Given the description of an element on the screen output the (x, y) to click on. 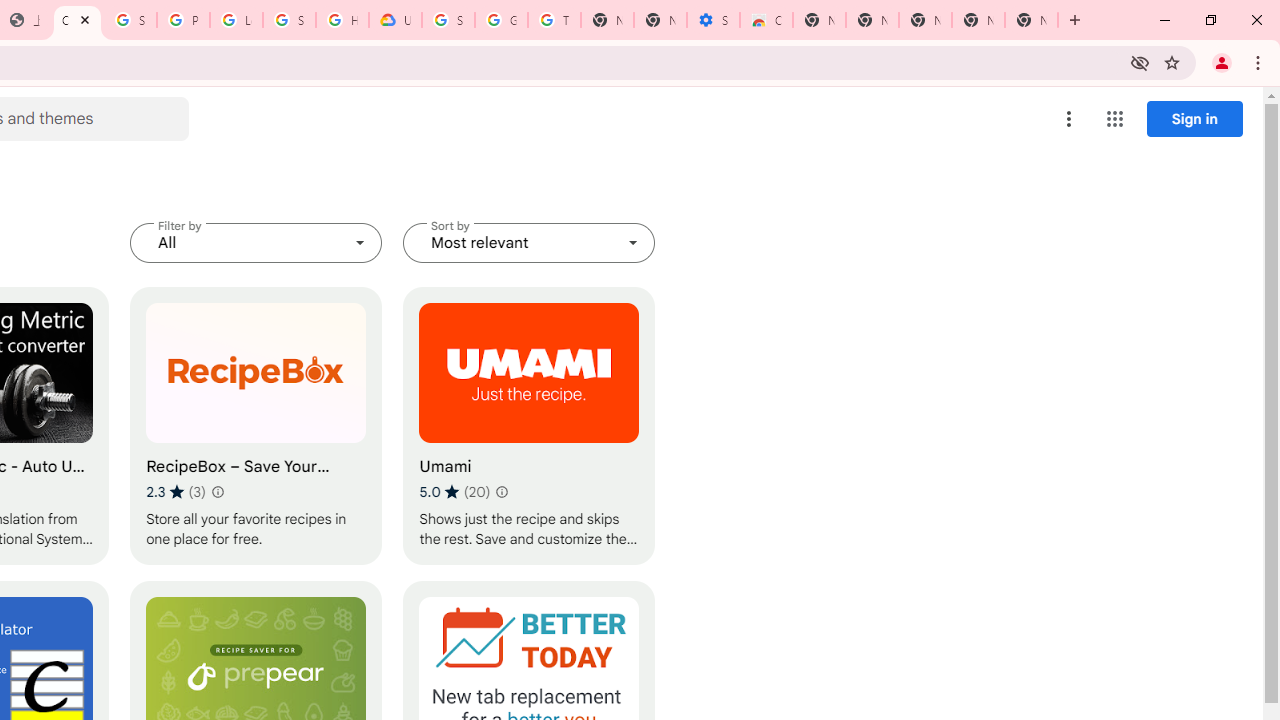
New Tab (819, 20)
Average rating 5 out of 5 stars. 20 ratings. (454, 491)
